Given the description of an element on the screen output the (x, y) to click on. 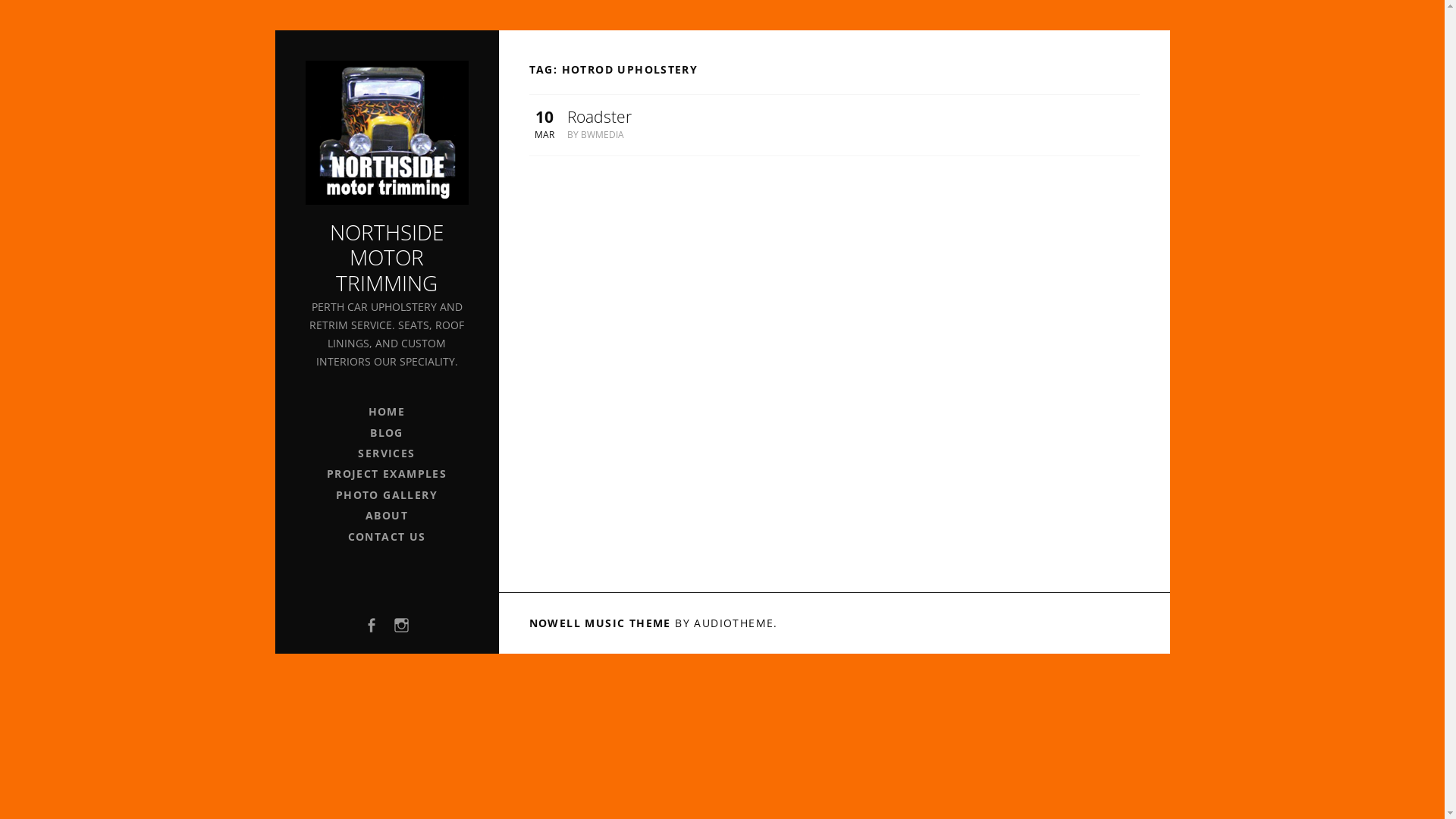
NORTHSIDE MOTOR TRIMMING Element type: text (386, 257)
INSTAGRAM Element type: text (402, 624)
BLOG Element type: text (385, 432)
PROJECT EXAMPLES Element type: text (385, 473)
BWMEDIA Element type: text (602, 134)
10
MAR Element type: text (544, 123)
ABOUT Element type: text (385, 515)
SERVICES Element type: text (385, 452)
CONTACT US Element type: text (385, 536)
HOME Element type: text (385, 411)
NOWELL MUSIC THEME Element type: text (600, 622)
Roadster Element type: text (599, 116)
PHOTO GALLERY Element type: text (385, 494)
FACEBOOK Element type: text (370, 624)
